Given the description of an element on the screen output the (x, y) to click on. 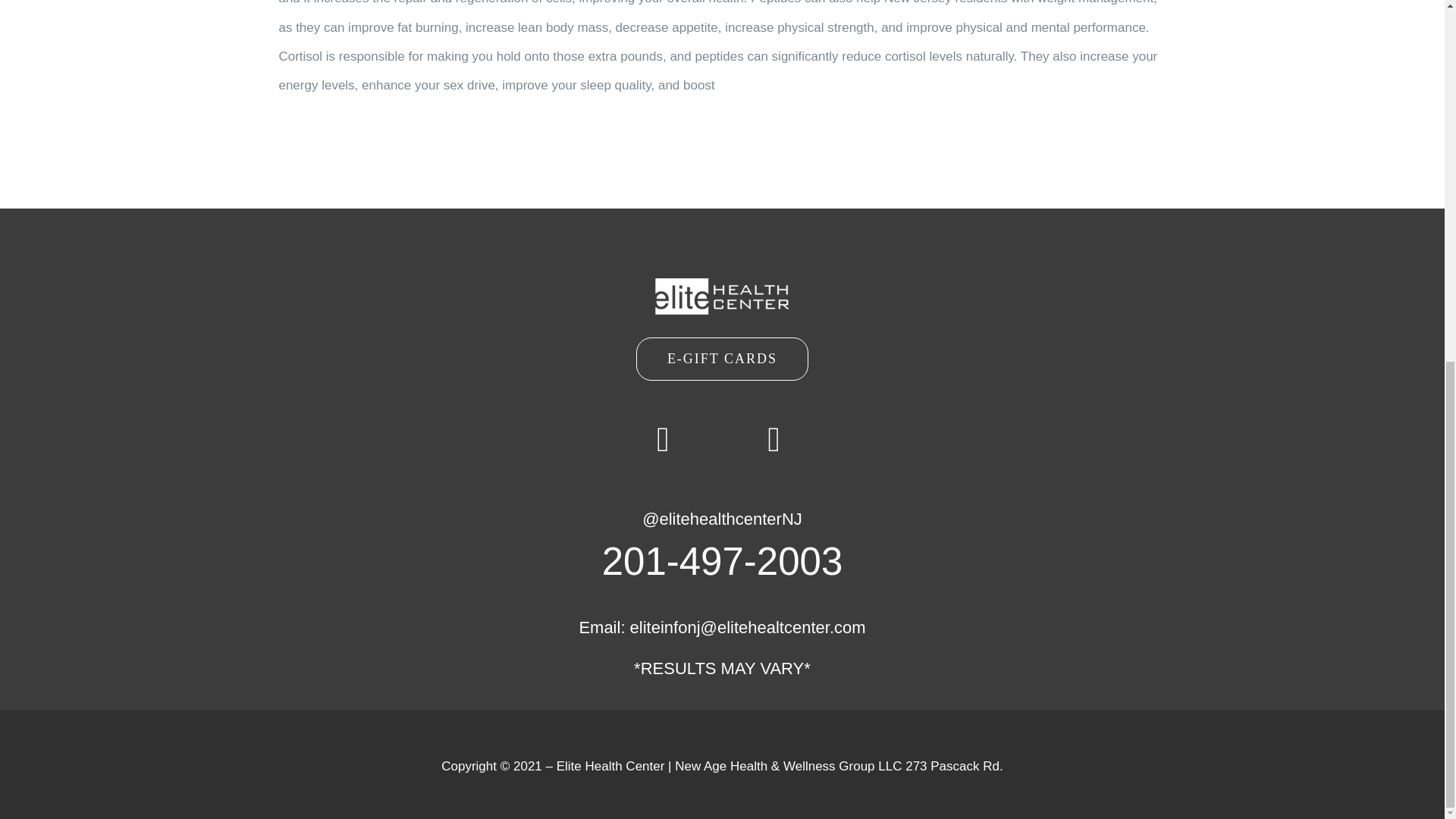
E-GIFT CARDS (722, 358)
mainlogo (722, 296)
